Given the description of an element on the screen output the (x, y) to click on. 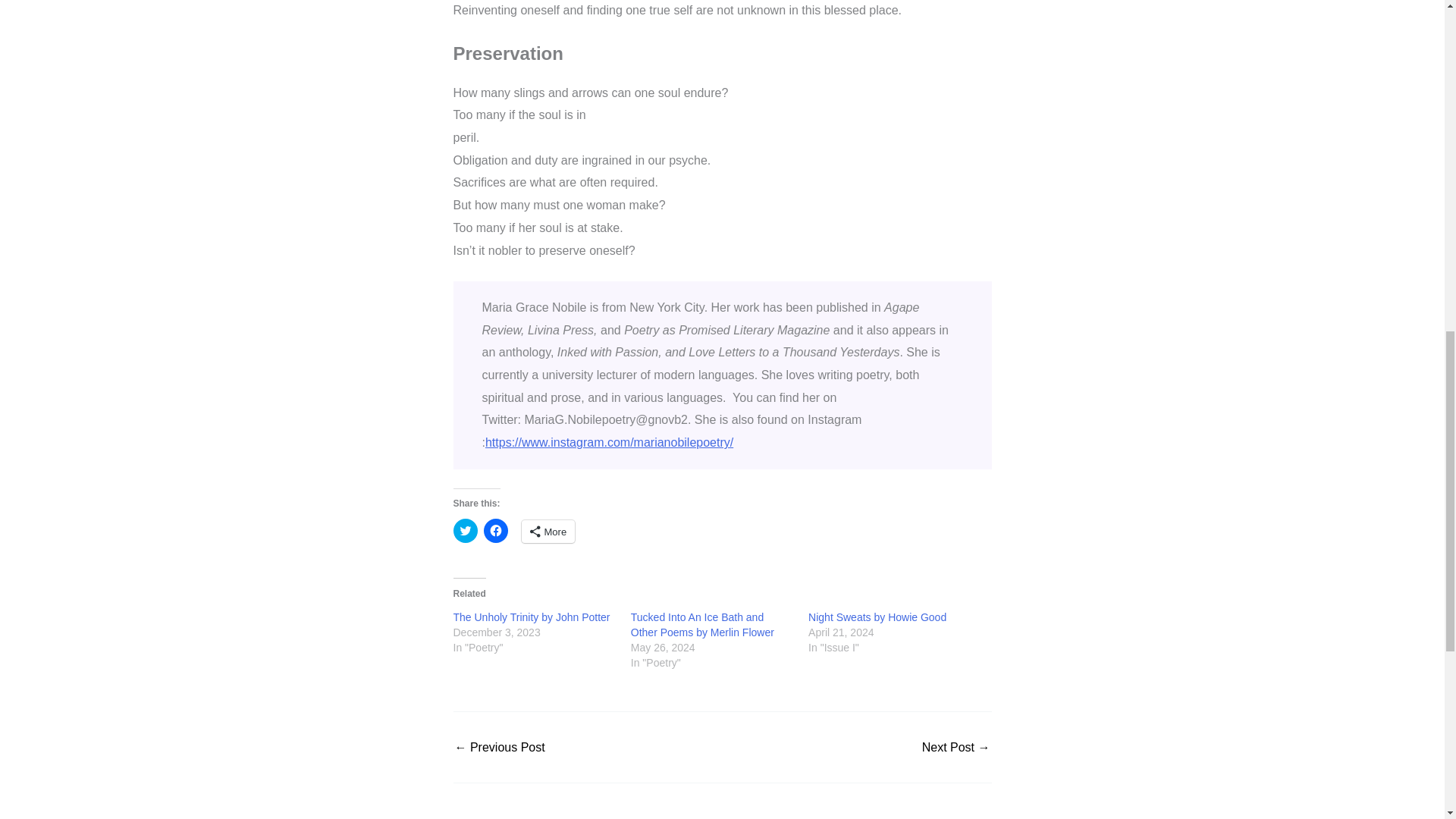
The Unholy Trinity by John Potter (531, 616)
Click to share on Twitter (464, 530)
Night Sweats by Howie Good (877, 616)
More (548, 531)
Dream's Death and other poems by Audrey Morales (499, 747)
A Question of Trust and Witnessing by Jeffrey Zable (955, 747)
Night Sweats by Howie Good (877, 616)
The Unholy Trinity by John Potter (531, 616)
Tucked Into An Ice Bath and Other Poems by Merlin Flower (702, 624)
Click to share on Facebook (495, 530)
Tucked Into An Ice Bath and Other Poems by Merlin Flower (702, 624)
